Given the description of an element on the screen output the (x, y) to click on. 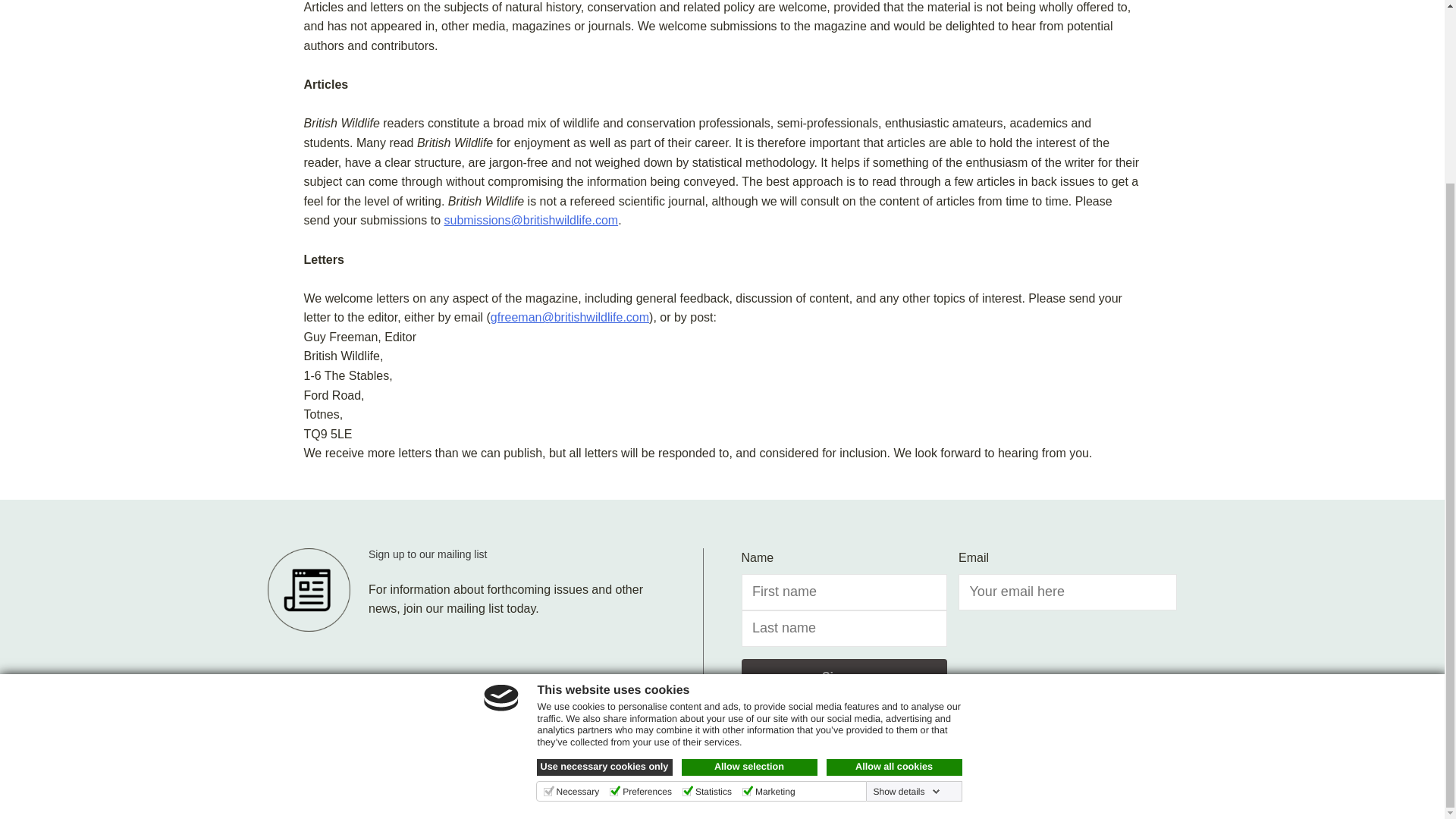
Sign up (844, 677)
Use necessary cookies only (604, 541)
Show details (905, 565)
Allow all cookies (894, 541)
Allow selection (748, 541)
